Given the description of an element on the screen output the (x, y) to click on. 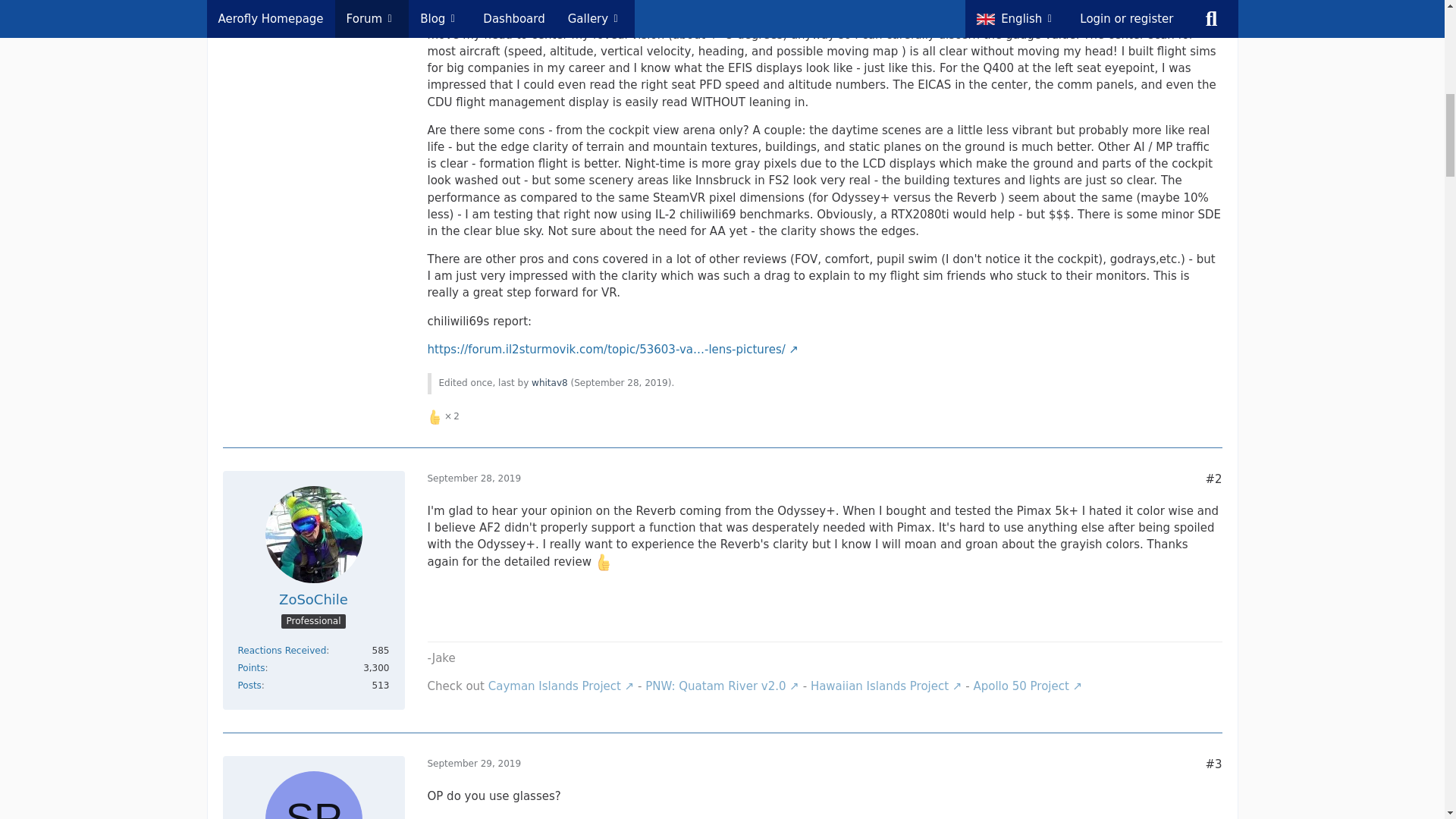
thumbup (603, 561)
